Given the description of an element on the screen output the (x, y) to click on. 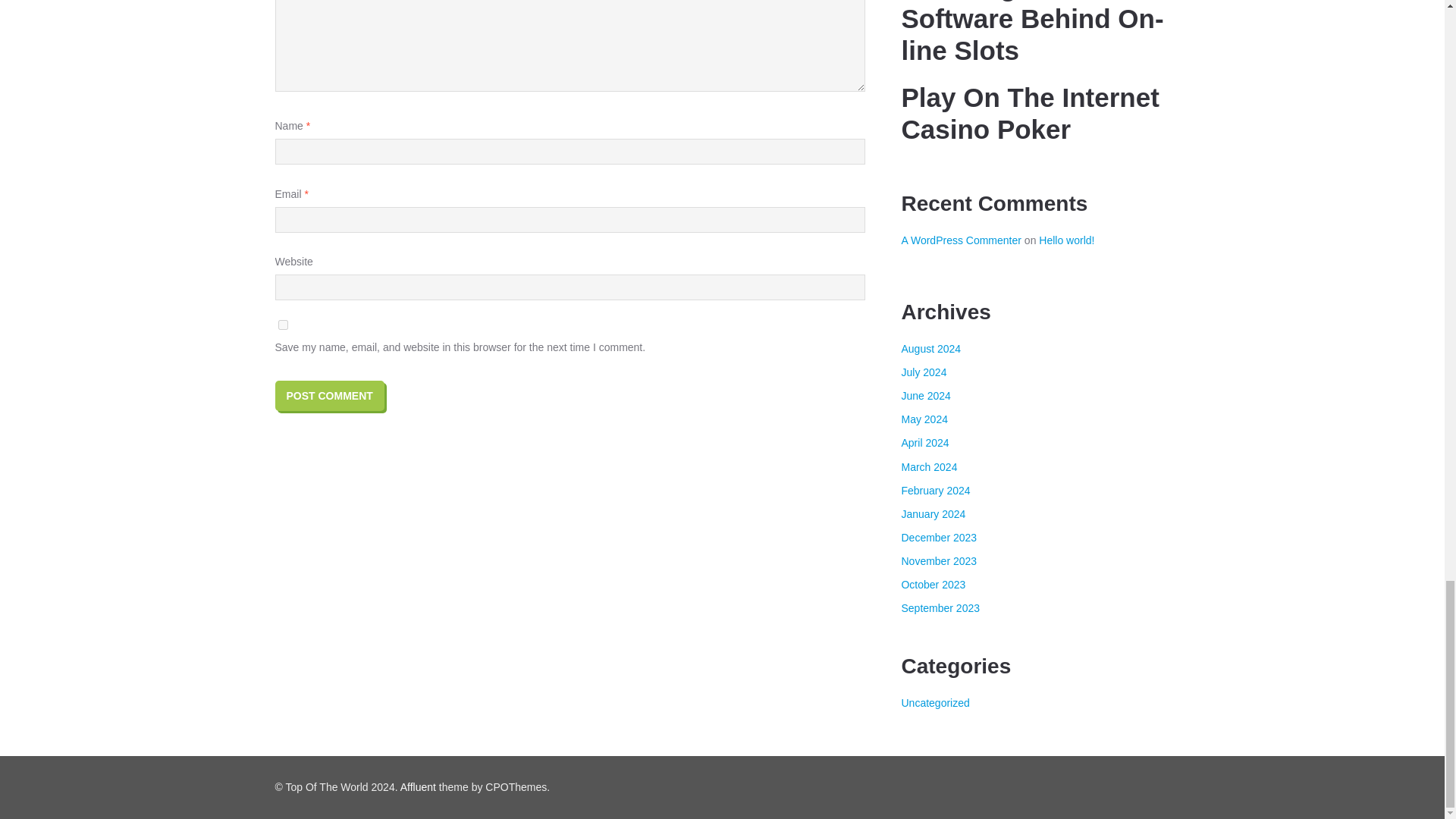
Post Comment (329, 395)
Post Comment (329, 395)
yes (282, 325)
